Given the description of an element on the screen output the (x, y) to click on. 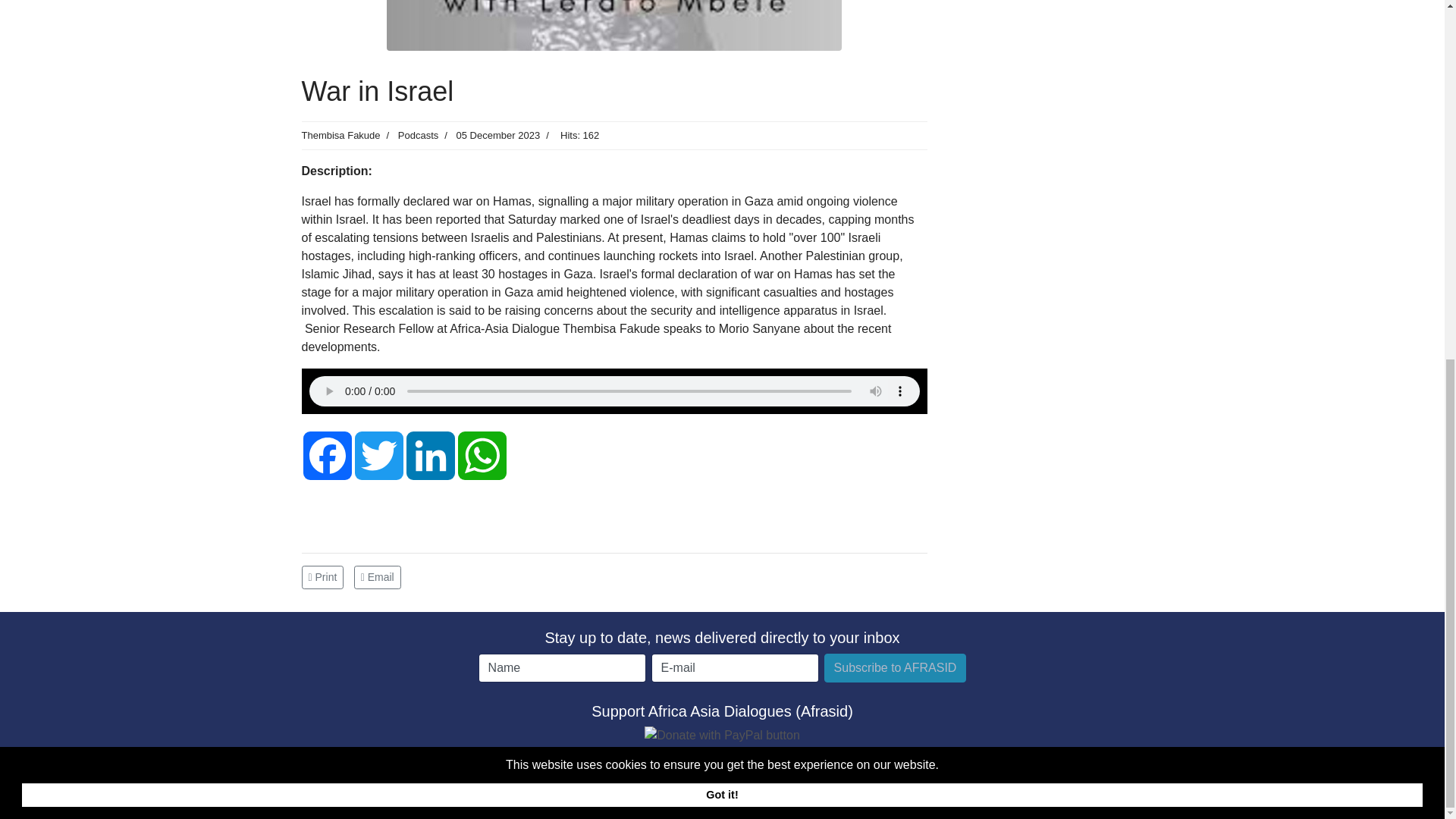
Published: 05 December 2023 (489, 135)
Subscribe to AFRASID (895, 667)
Facebook (327, 455)
E-mail (734, 667)
Podcasts (417, 134)
Twitter (378, 455)
PayPal - The safer, easier way to pay online! (722, 735)
Category: Podcasts (409, 135)
Email this link to a friend (377, 576)
E-mail (734, 667)
